Given the description of an element on the screen output the (x, y) to click on. 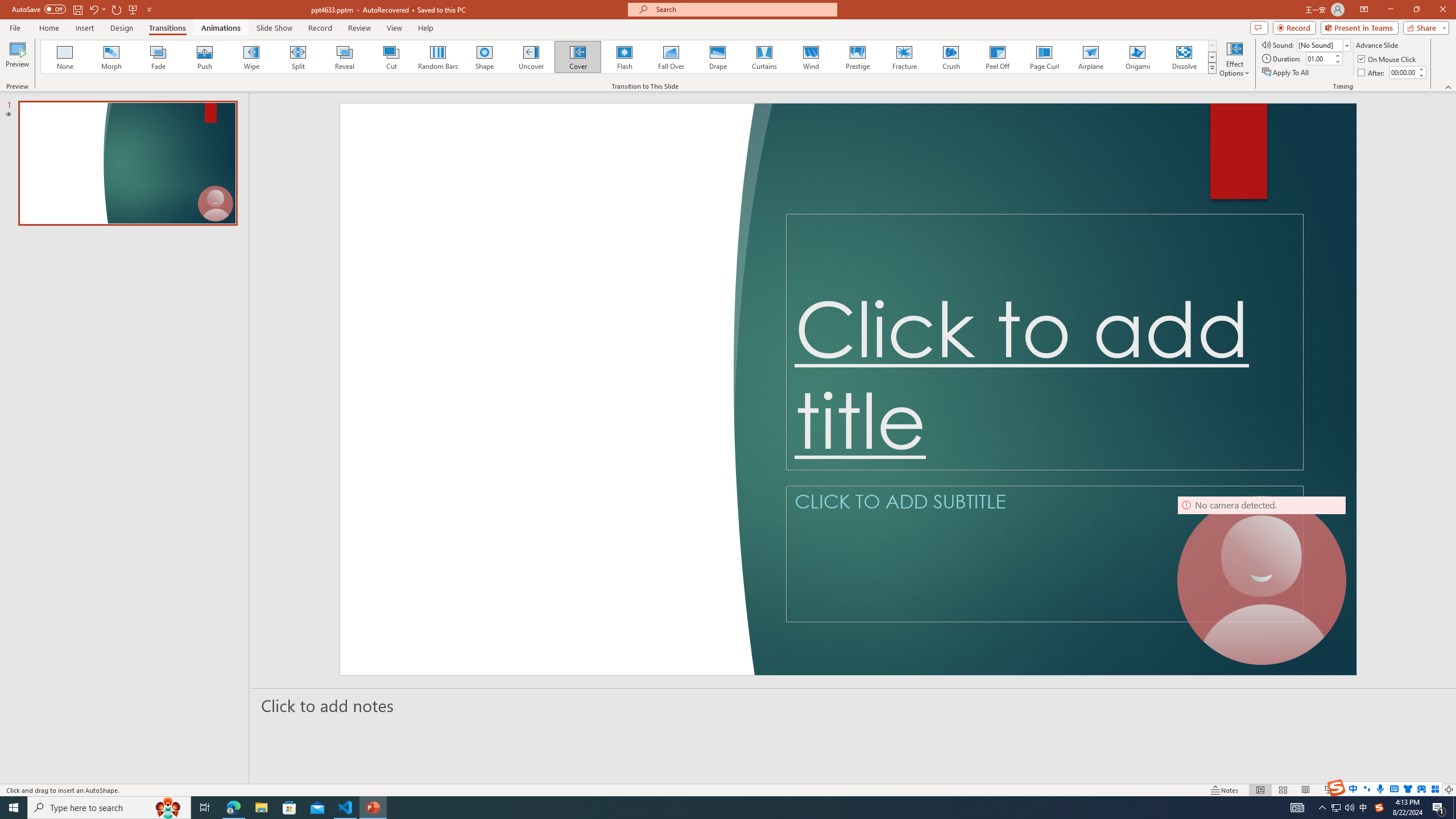
Circuit Loading Preview... (772, 56)
Office Theme (85, 56)
Ion Variant 4 (1270, 56)
